Given the description of an element on the screen output the (x, y) to click on. 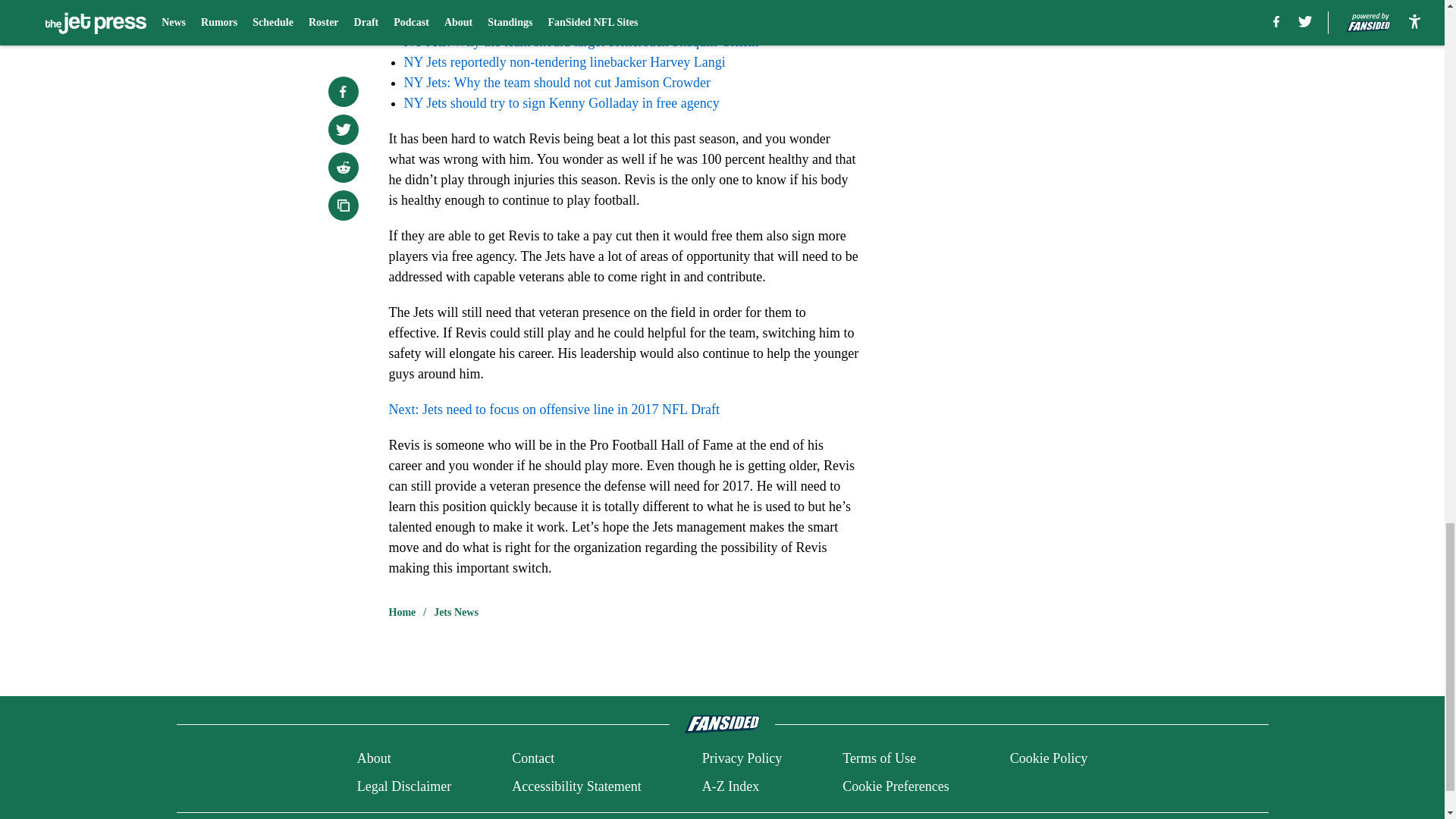
Legal Disclaimer (403, 786)
NY Jets should target TE Hunter Henry in free agency (551, 20)
Next: Jets need to focus on offensive line in 2017 NFL Draft (553, 409)
Cookie Preferences (896, 786)
Home (401, 612)
Accessibility Statement (576, 786)
Privacy Policy (742, 758)
NY Jets reportedly non-tendering linebacker Harvey Langi (564, 61)
NY Jets: Why the team should not cut Jamison Crowder (556, 82)
Jets News (456, 612)
